Given the description of an element on the screen output the (x, y) to click on. 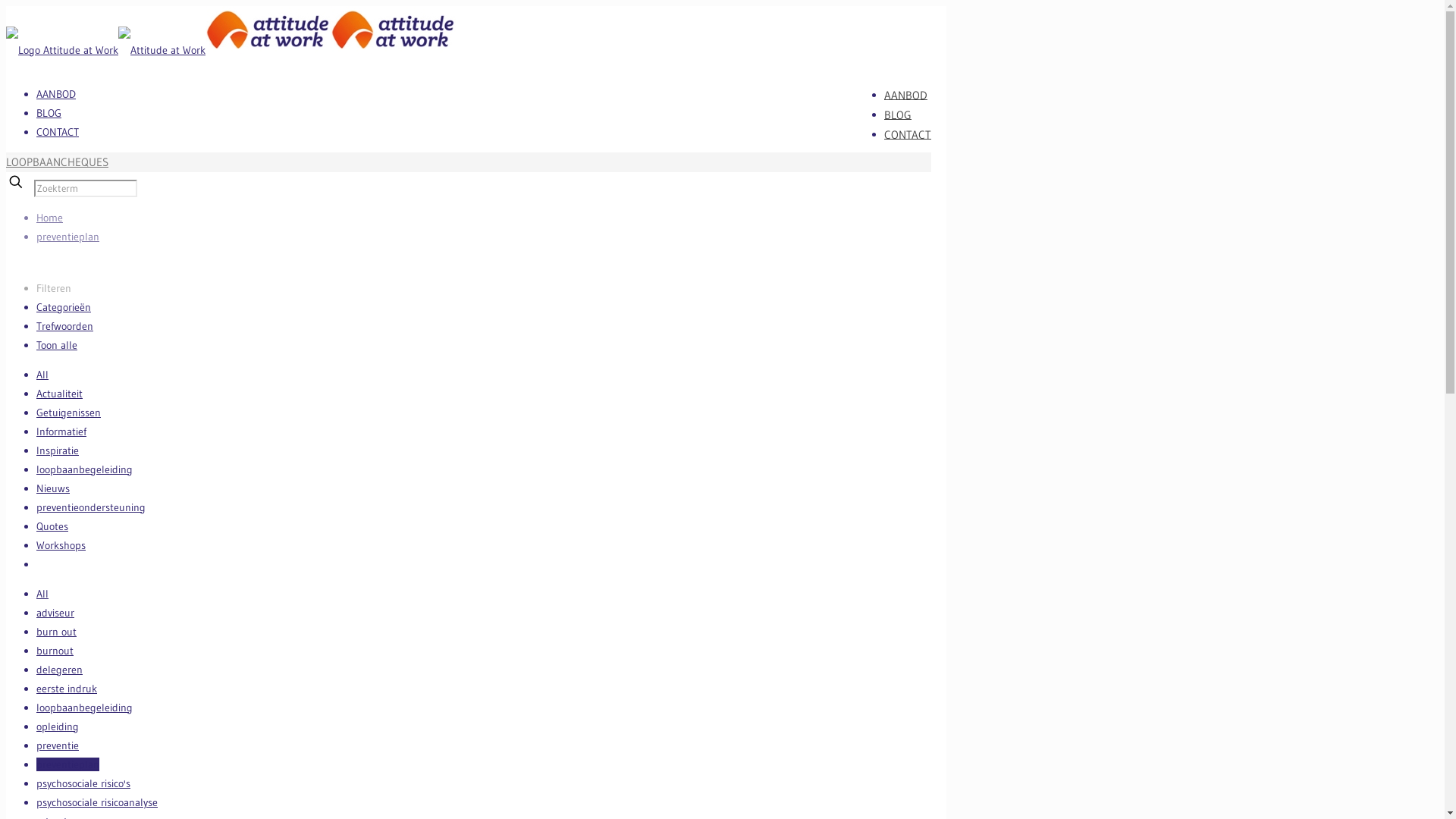
Home Element type: text (49, 217)
Getuigenissen Element type: text (68, 412)
adviseur Element type: text (55, 612)
burnout Element type: text (54, 650)
Inspiratie Element type: text (57, 450)
CONTACT Element type: text (907, 133)
BLOG Element type: text (48, 112)
BLOG Element type: text (897, 113)
preventieplan Element type: text (67, 236)
Trefwoorden Element type: text (64, 325)
Informatief Element type: text (61, 431)
Workshops Element type: text (60, 545)
Toon alle Element type: text (56, 344)
All Element type: text (42, 593)
AANBOD Element type: text (55, 93)
CONTACT Element type: text (57, 131)
Nieuws Element type: text (52, 488)
psychosociale risicoanalyse Element type: text (96, 802)
burn out Element type: text (56, 631)
Attitude at Work Element type: hover (230, 49)
delegeren Element type: text (59, 669)
eerste indruk Element type: text (66, 688)
AANBOD Element type: text (905, 93)
loopbaanbegeleiding Element type: text (84, 469)
loopbaanbegeleiding Element type: text (84, 707)
preventieondersteuning Element type: text (90, 507)
Quotes Element type: text (52, 526)
preventieplan Element type: text (67, 764)
LOOPBAANCHEQUES Element type: text (57, 161)
All Element type: text (42, 374)
Actualiteit Element type: text (59, 393)
psychosociale risico's Element type: text (83, 783)
preventie Element type: text (57, 745)
opleiding Element type: text (57, 726)
